Given the description of an element on the screen output the (x, y) to click on. 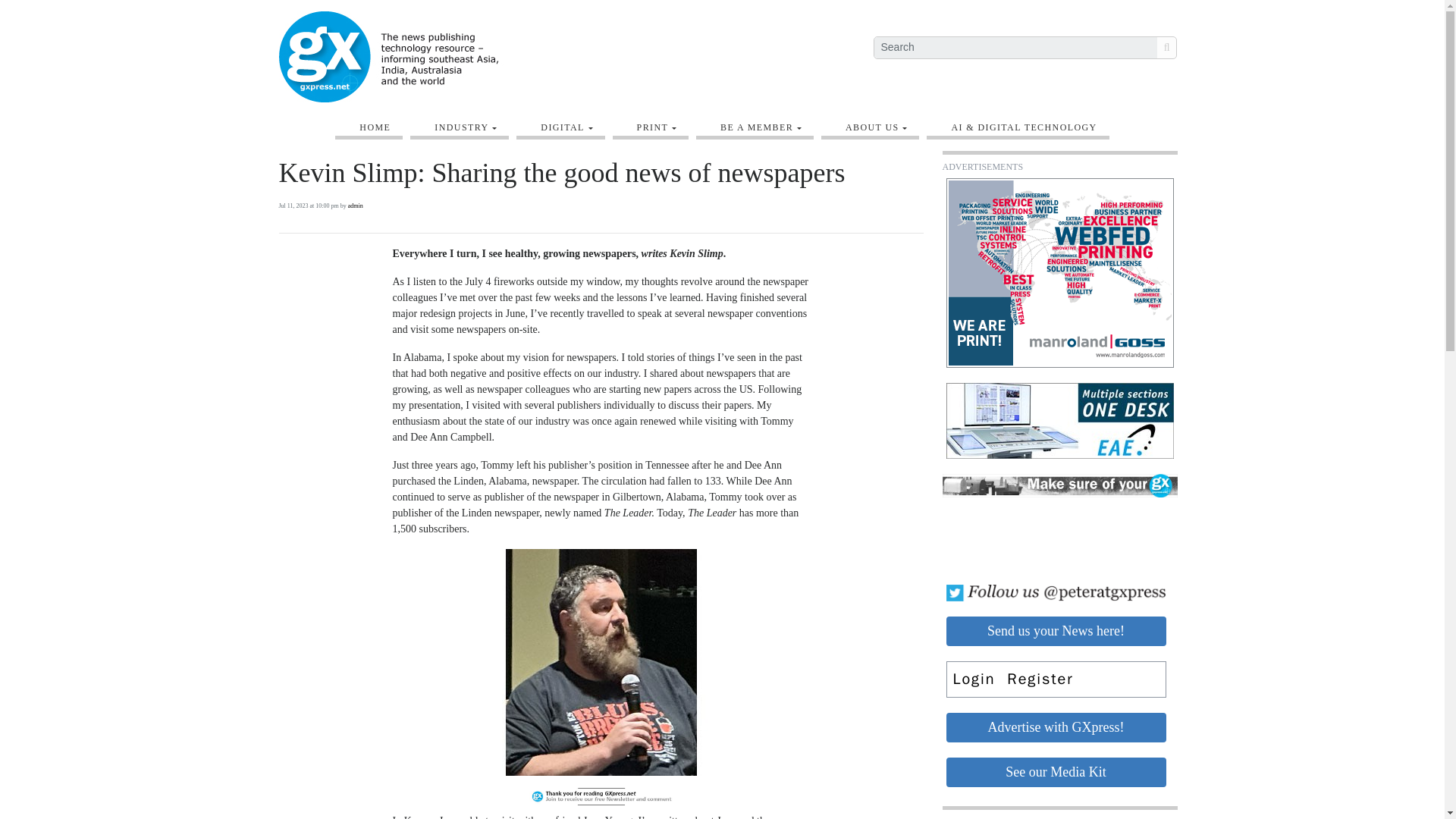
INDUSTRY (464, 127)
HOME (374, 127)
DIGITAL (566, 127)
ABOUT US (876, 127)
PRINT (657, 127)
BE A MEMBER (761, 127)
